Given the description of an element on the screen output the (x, y) to click on. 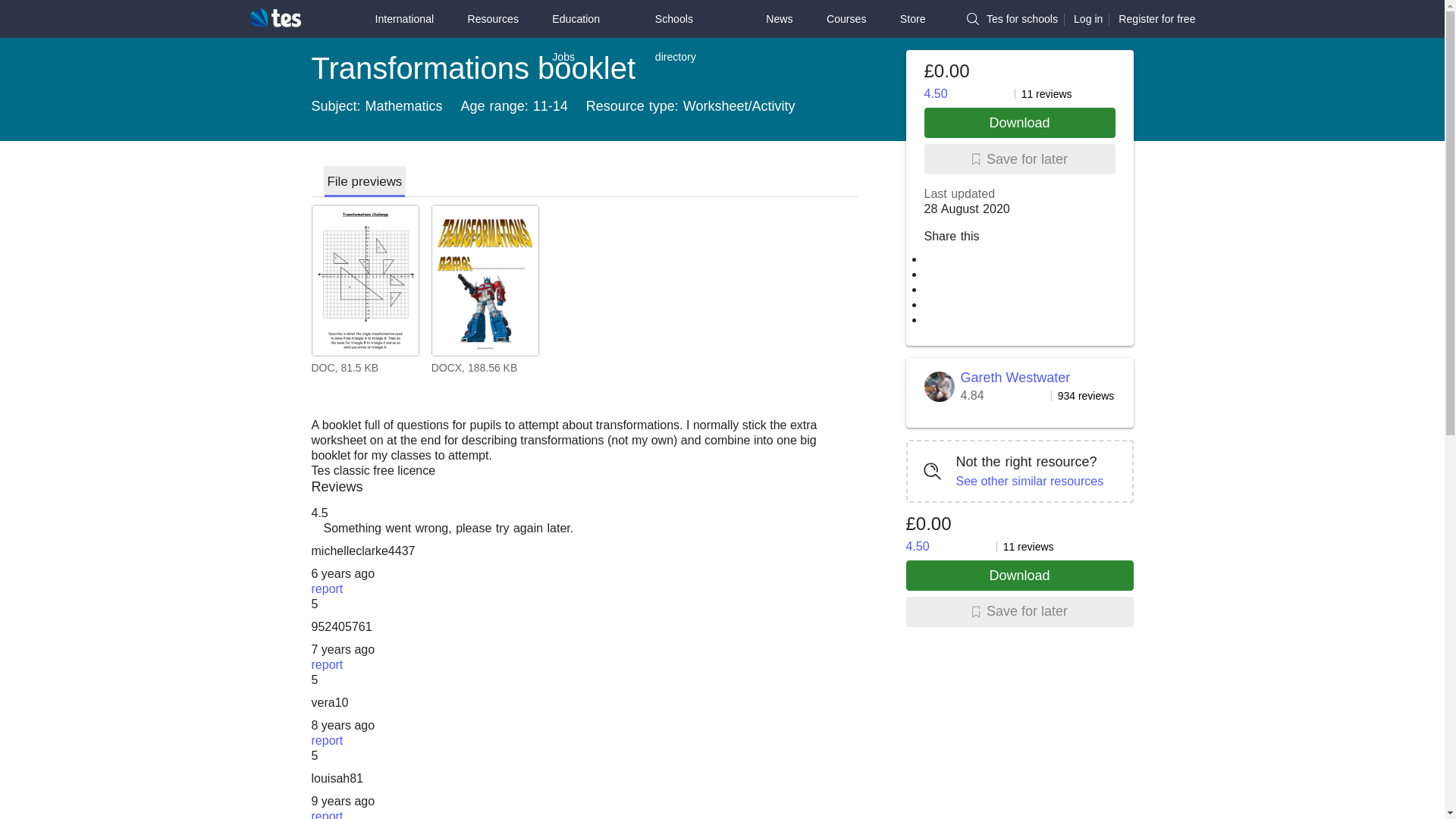
Report this comment (584, 292)
Tes for schools (326, 588)
Report this comment (1022, 19)
Schools directory (326, 814)
Register for free (693, 38)
Resources (1156, 19)
Report this comment (492, 18)
Report this comment (326, 664)
International (326, 739)
